Given the description of an element on the screen output the (x, y) to click on. 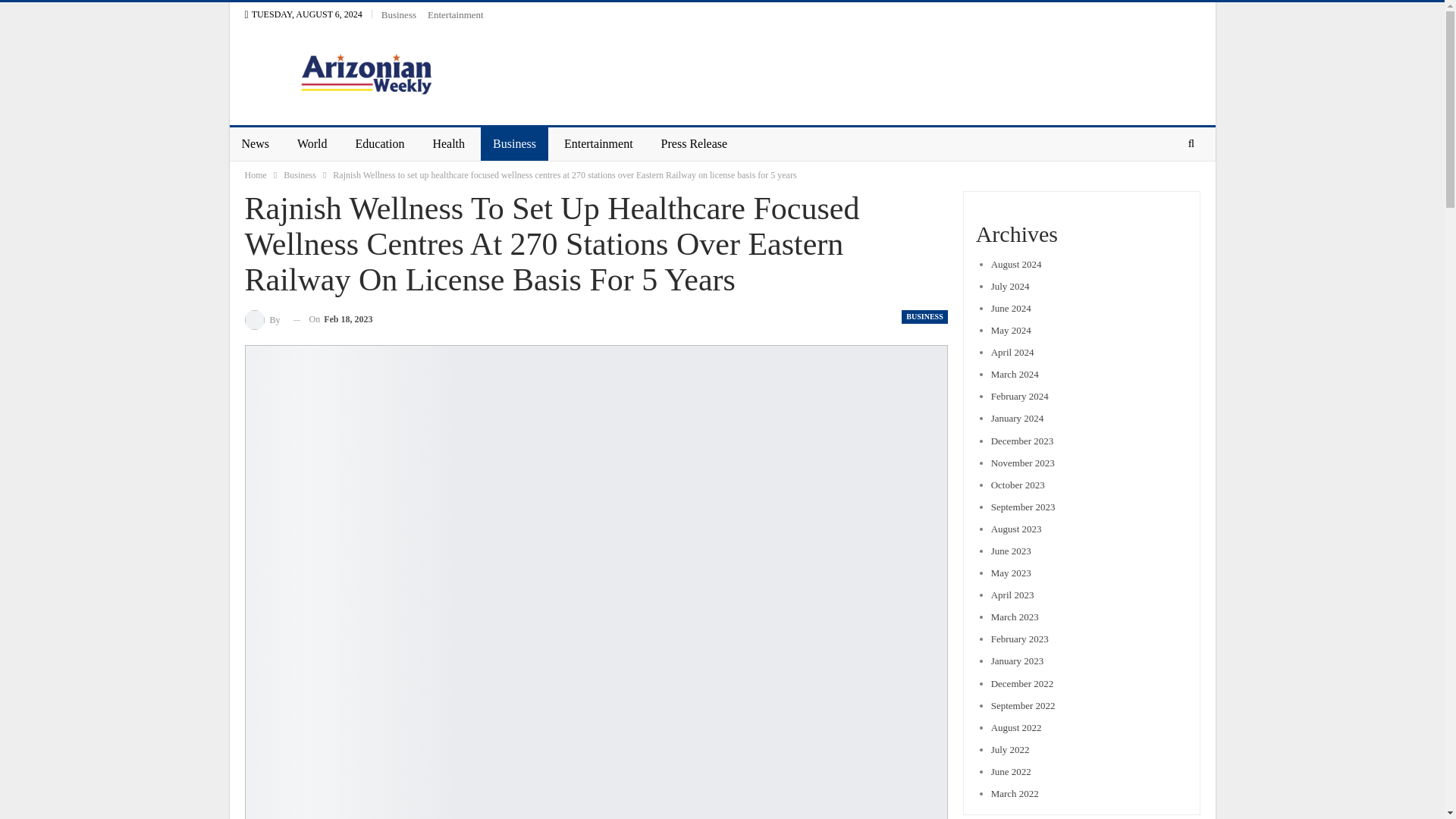
Press Release (694, 143)
Health (448, 143)
Browse Author Articles (262, 319)
Entertainment (598, 143)
World (312, 143)
Education (379, 143)
Business (514, 143)
By (262, 319)
Business (398, 14)
Entertainment (455, 14)
Home (255, 175)
News (254, 143)
BUSINESS (924, 316)
Business (299, 175)
